Given the description of an element on the screen output the (x, y) to click on. 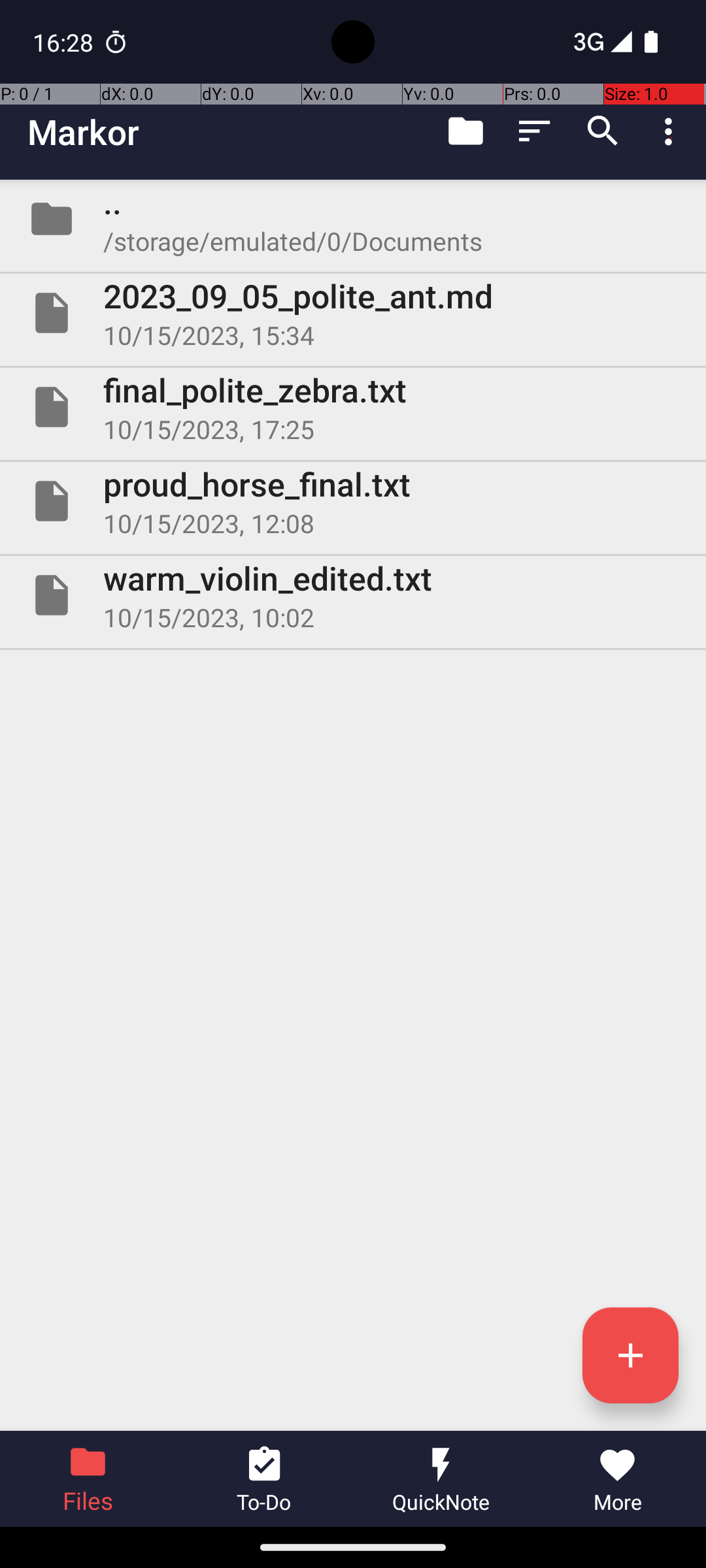
File 2023_09_05_polite_ant.md  Element type: android.widget.LinearLayout (353, 312)
File final_polite_zebra.txt  Element type: android.widget.LinearLayout (353, 406)
File proud_horse_final.txt  Element type: android.widget.LinearLayout (353, 500)
File warm_violin_edited.txt  Element type: android.widget.LinearLayout (353, 594)
16:28 Element type: android.widget.TextView (64, 41)
